Given the description of an element on the screen output the (x, y) to click on. 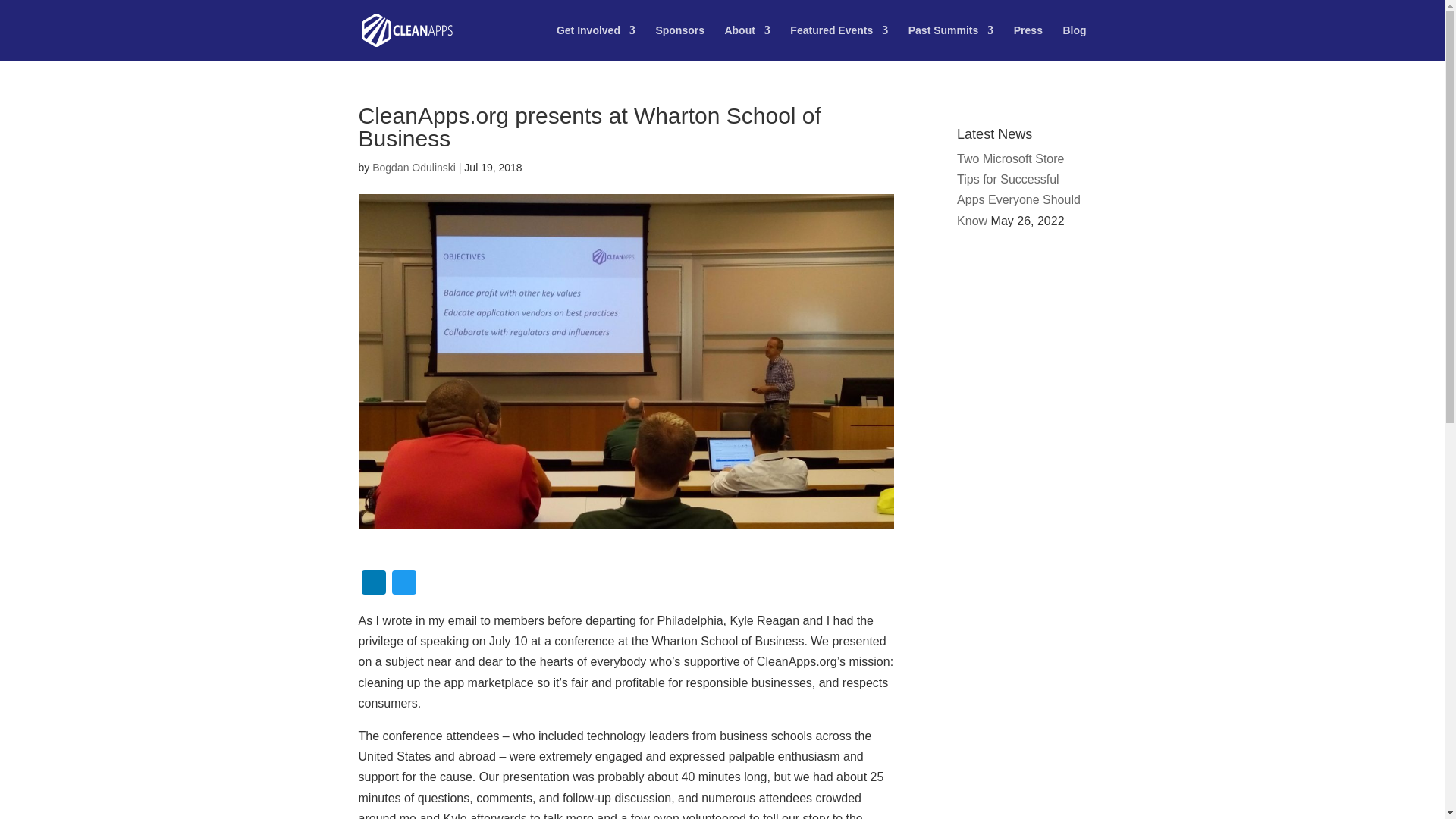
Past Summits (951, 42)
Get Involved (595, 42)
LinkedIn (373, 584)
About (746, 42)
Posts by Bogdan Odulinski (413, 167)
Featured Events (839, 42)
Sponsors (679, 42)
Twitter (403, 584)
Bogdan Odulinski (413, 167)
